Given the description of an element on the screen output the (x, y) to click on. 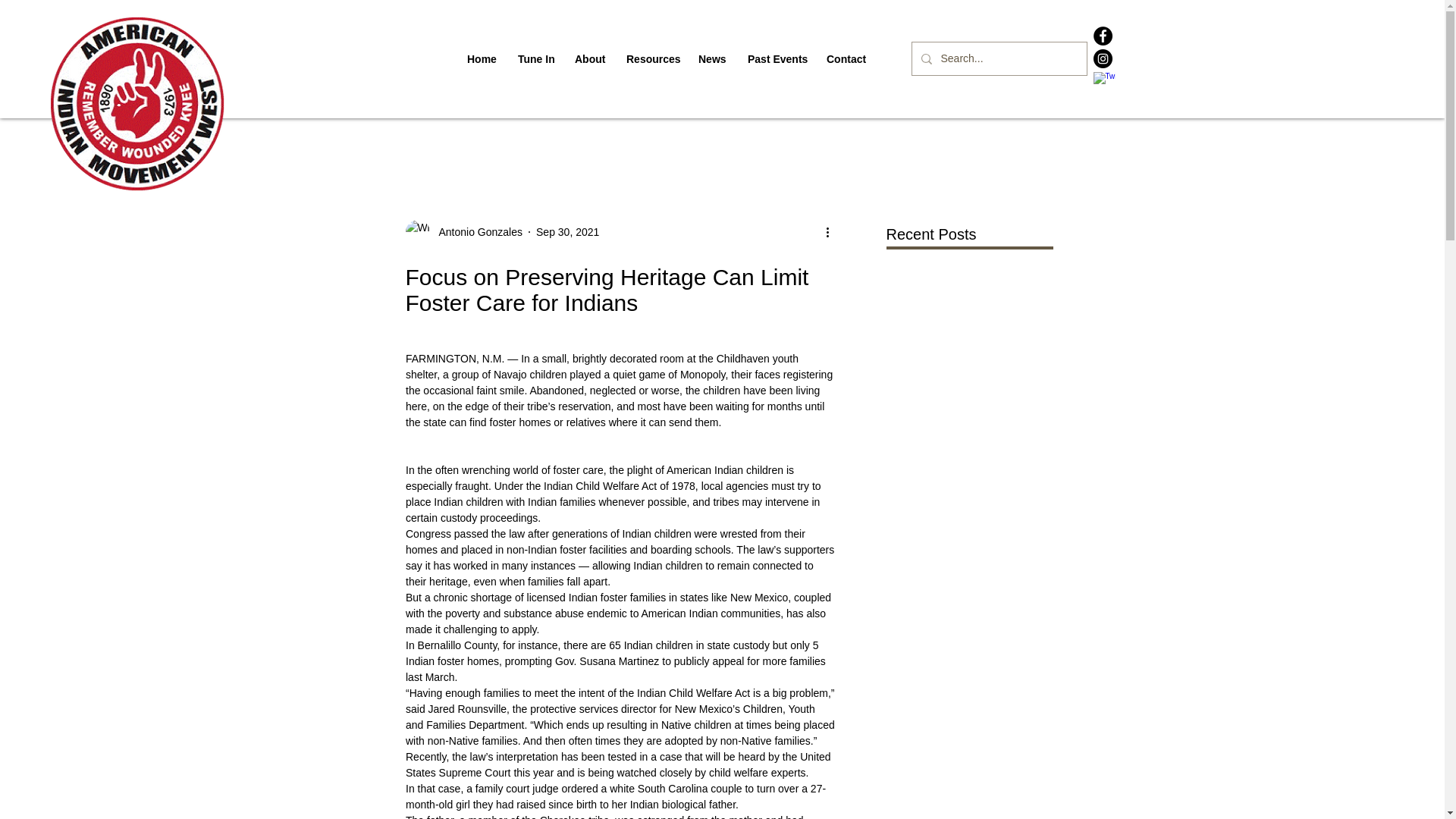
Sep 30, 2021 (566, 232)
News (711, 58)
About (588, 58)
Home (480, 58)
Contact (845, 58)
Antonio Gonzales (475, 232)
Past Events (775, 58)
Tune In (534, 58)
